Given the description of an element on the screen output the (x, y) to click on. 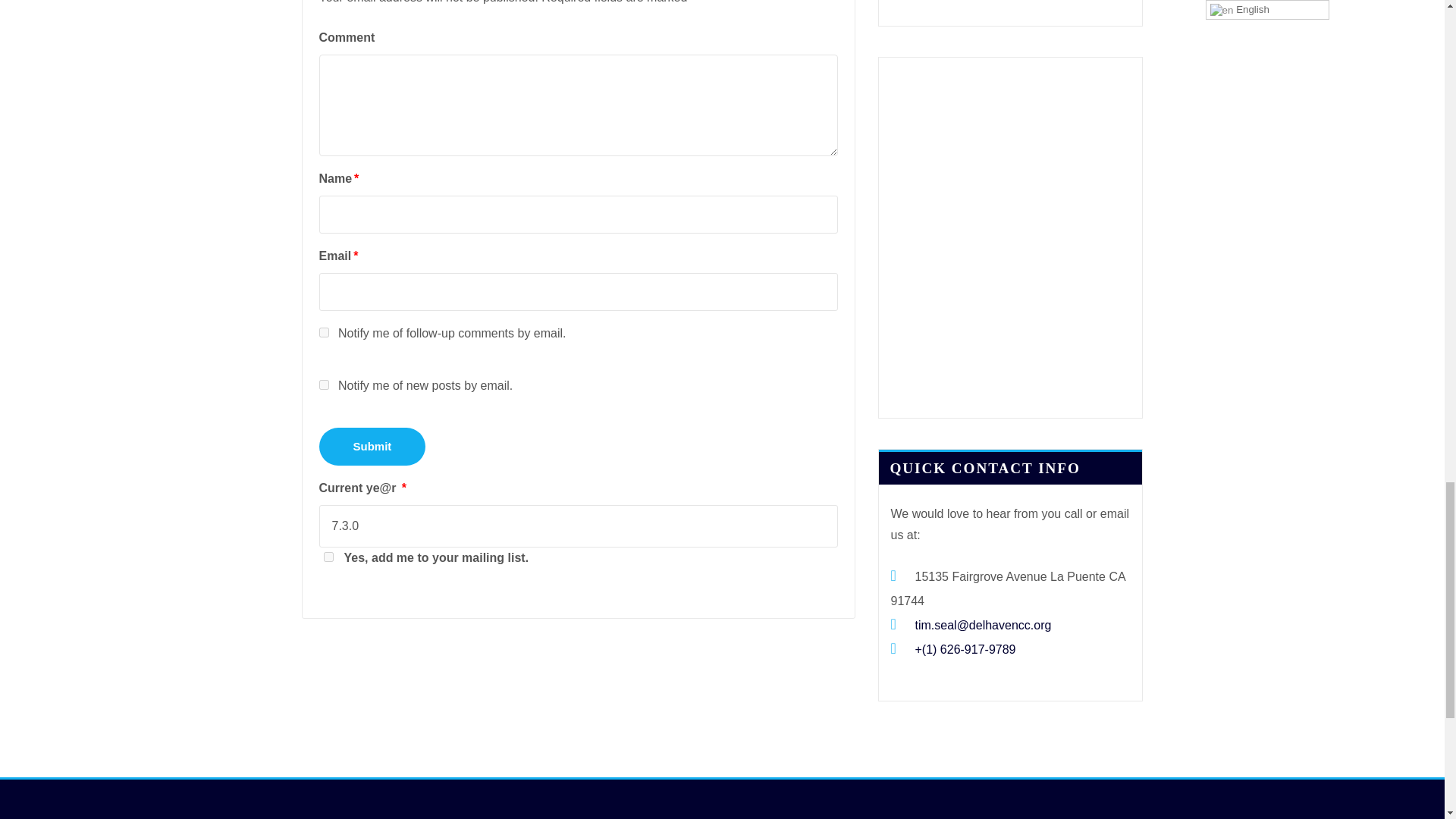
subscribe (323, 384)
Submit (371, 446)
subscribe (323, 332)
1 (327, 556)
7.3.0 (577, 526)
